Given the description of an element on the screen output the (x, y) to click on. 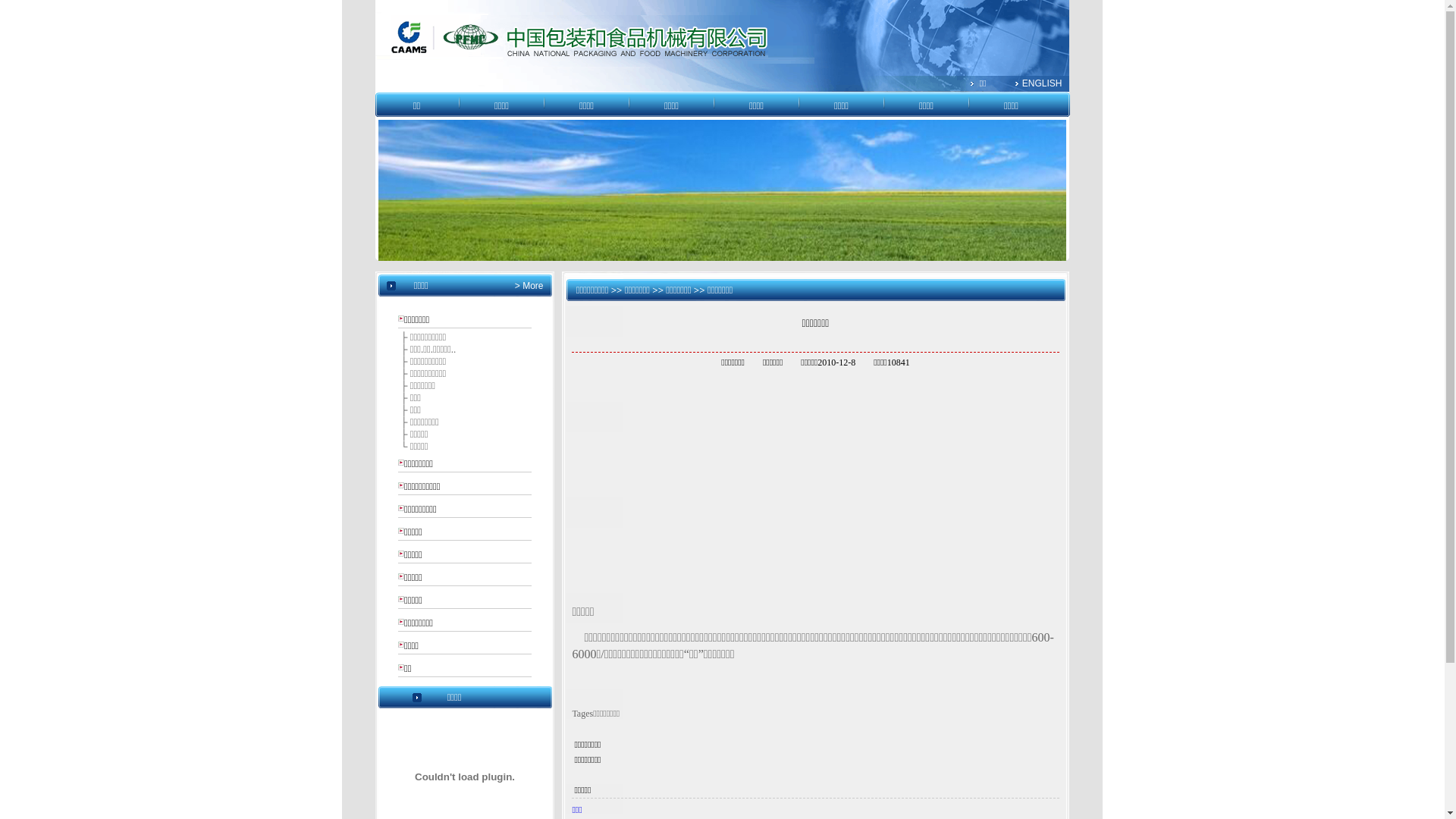
ENGLISH Element type: text (1042, 83)
 More Element type: text (531, 285)
